Given the description of an element on the screen output the (x, y) to click on. 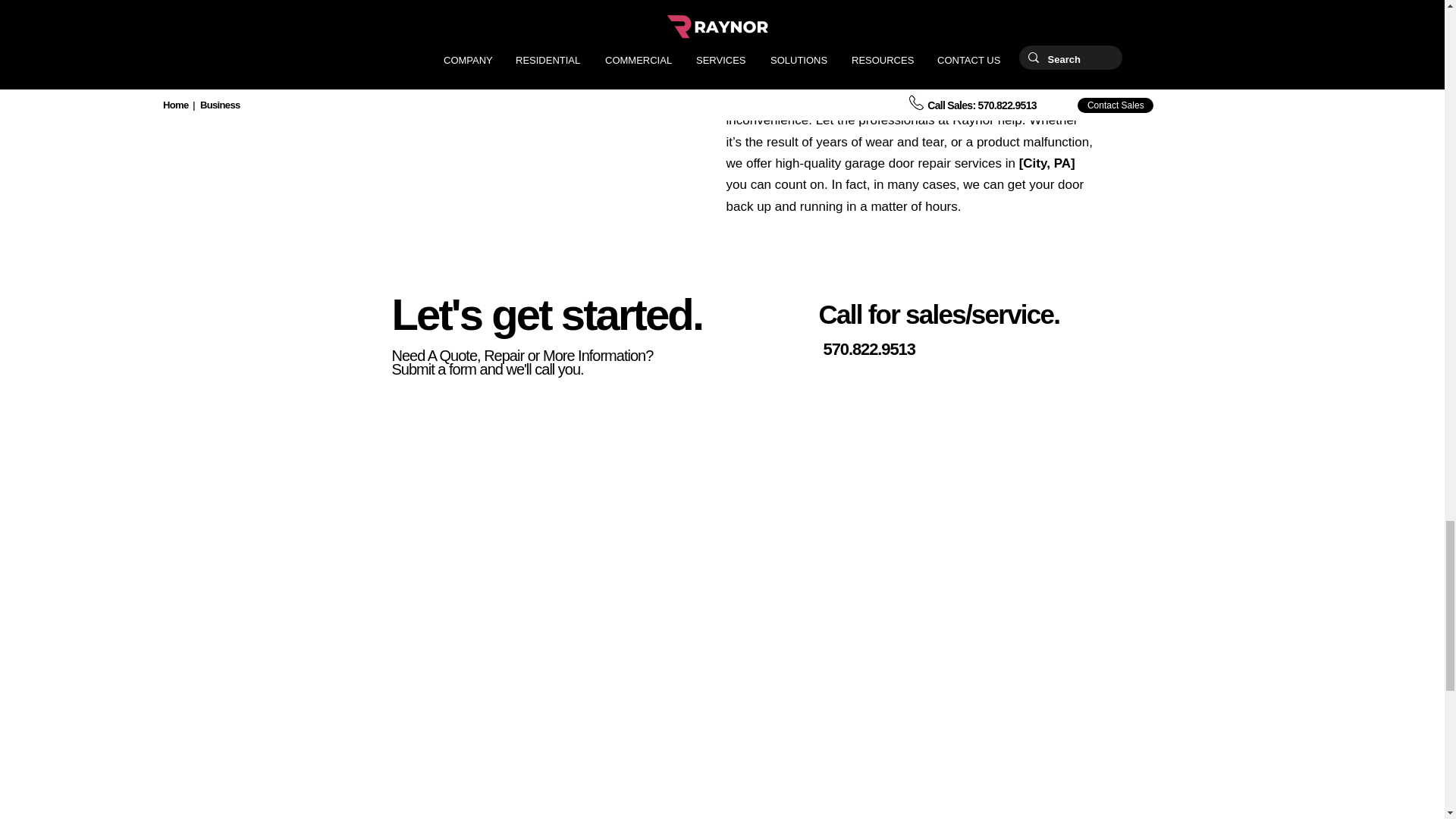
570.822.9513 (869, 348)
